Given the description of an element on the screen output the (x, y) to click on. 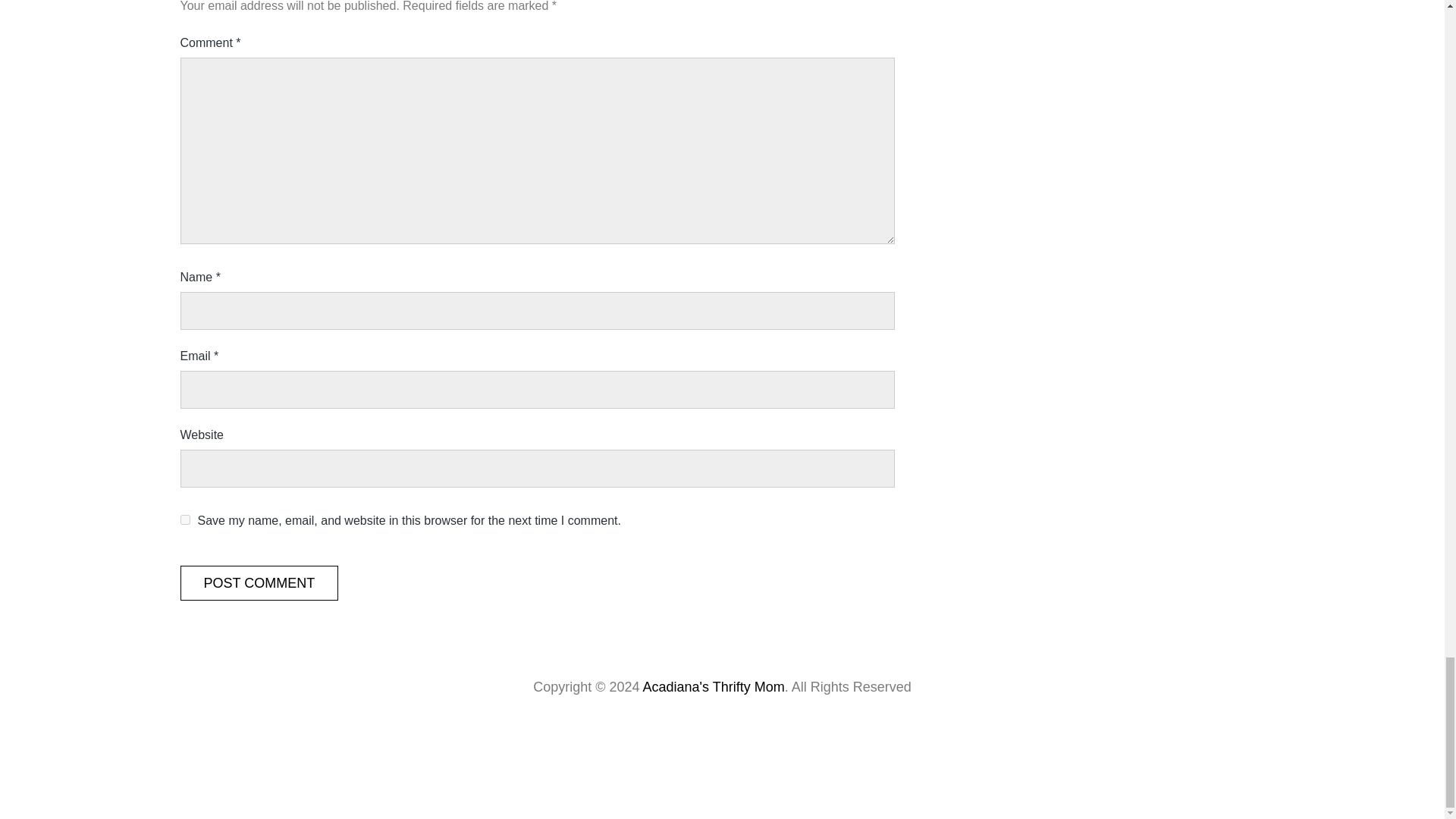
Post Comment (259, 582)
yes (185, 519)
